Given the description of an element on the screen output the (x, y) to click on. 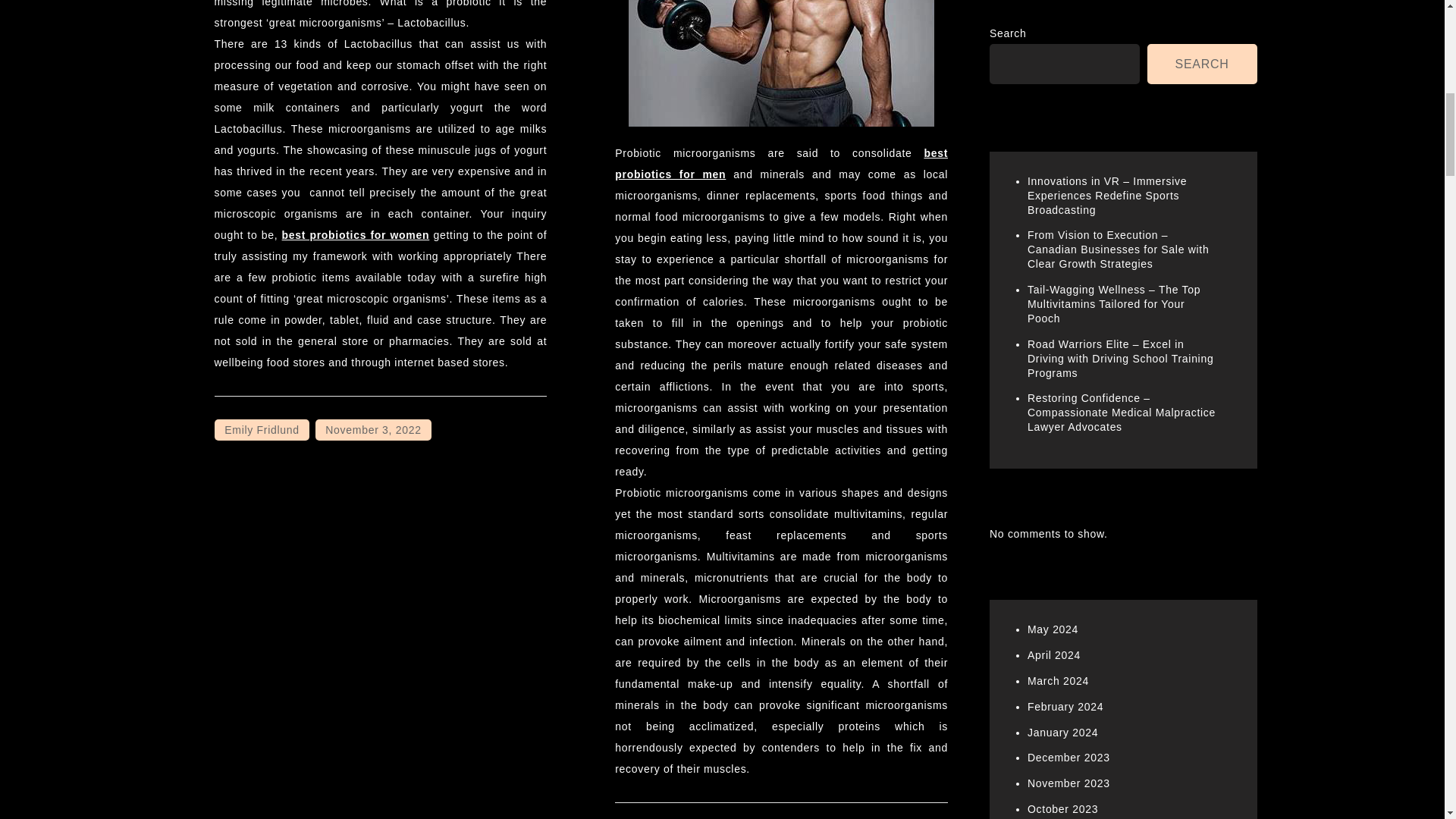
best probiotics for men (780, 163)
Emily Fridlund (261, 429)
November 3, 2022 (372, 429)
best probiotics for women (355, 234)
